Given the description of an element on the screen output the (x, y) to click on. 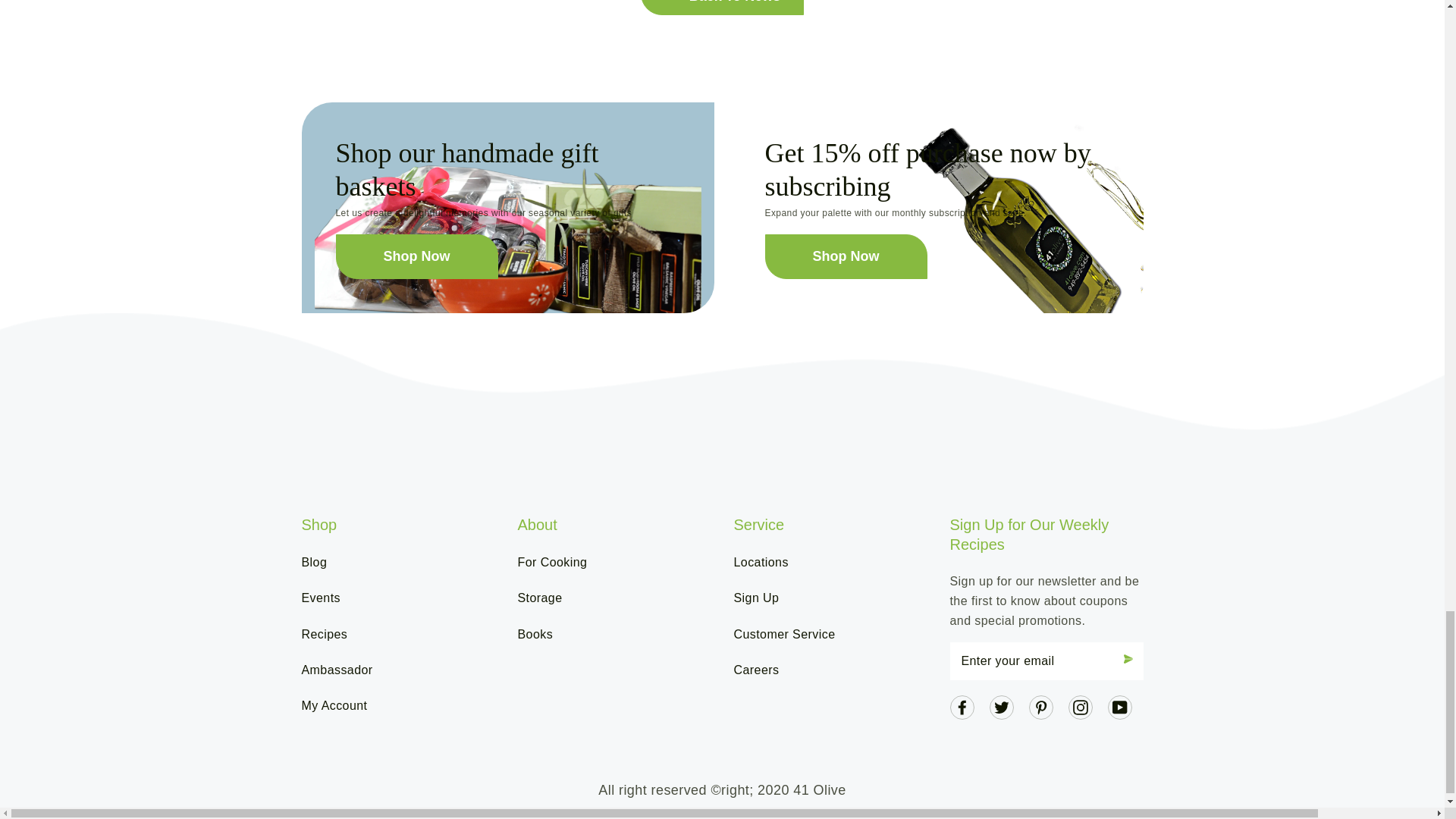
41 Olive on Facebook (961, 706)
41 Olive on YouTube (1119, 706)
41 Olive on Twitter (1001, 706)
41 Olive on Instagram (1080, 706)
41 Olive on Pinterest (1040, 706)
